Given the description of an element on the screen output the (x, y) to click on. 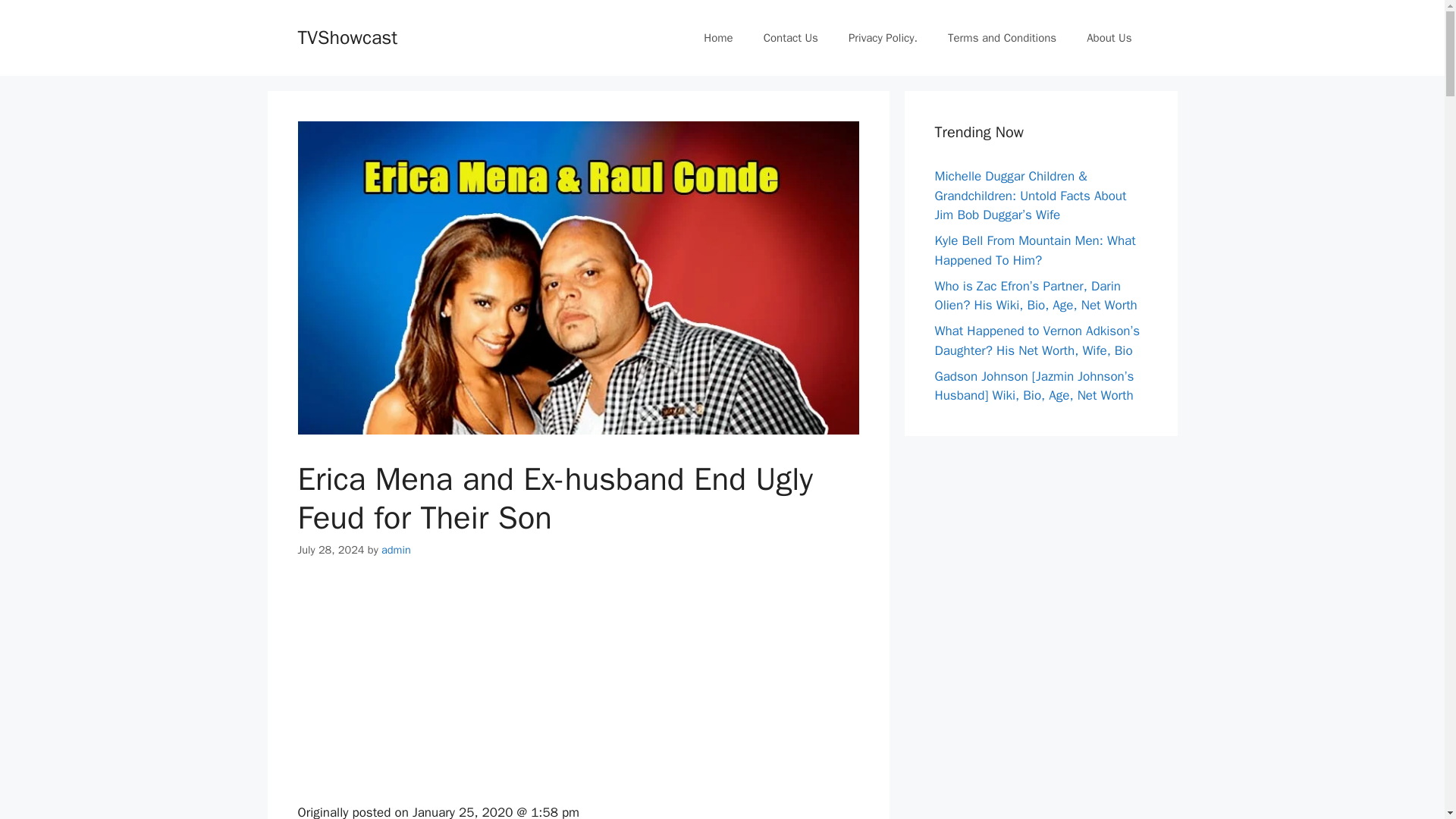
Contact Us (790, 37)
Privacy Policy. (882, 37)
Advertisement (578, 690)
Terms and Conditions (1002, 37)
TVShowcast (347, 37)
View all posts by admin (395, 549)
About Us (1109, 37)
Home (718, 37)
admin (395, 549)
Kyle Bell From Mountain Men: What Happened To Him? (1034, 250)
